Given the description of an element on the screen output the (x, y) to click on. 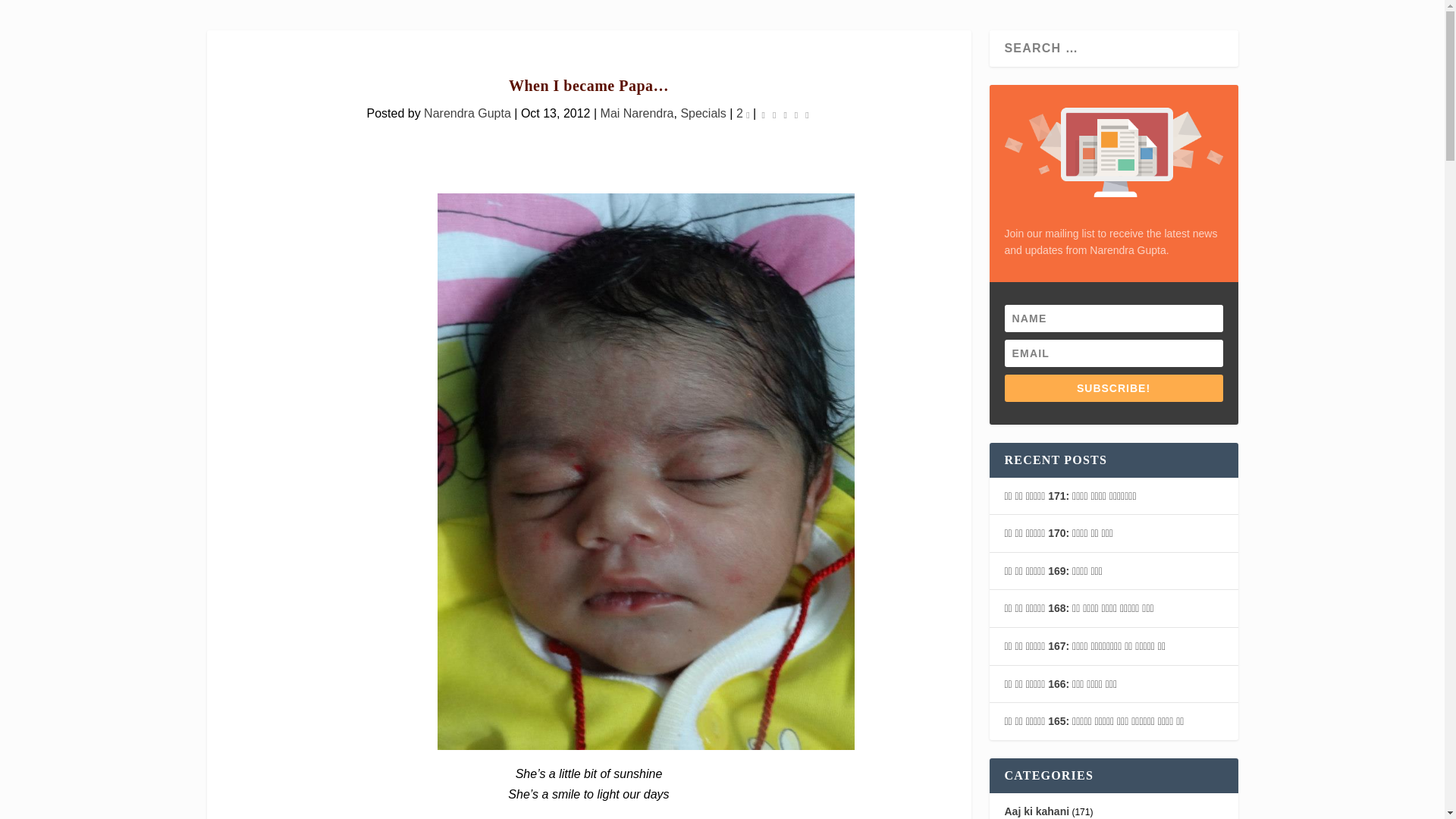
Mai Narendra (636, 113)
comment count (747, 115)
2 (742, 113)
Specials (702, 113)
Rating: 0.00 (785, 114)
Narendra Gupta (467, 113)
Posts by Narendra Gupta (467, 113)
